Given the description of an element on the screen output the (x, y) to click on. 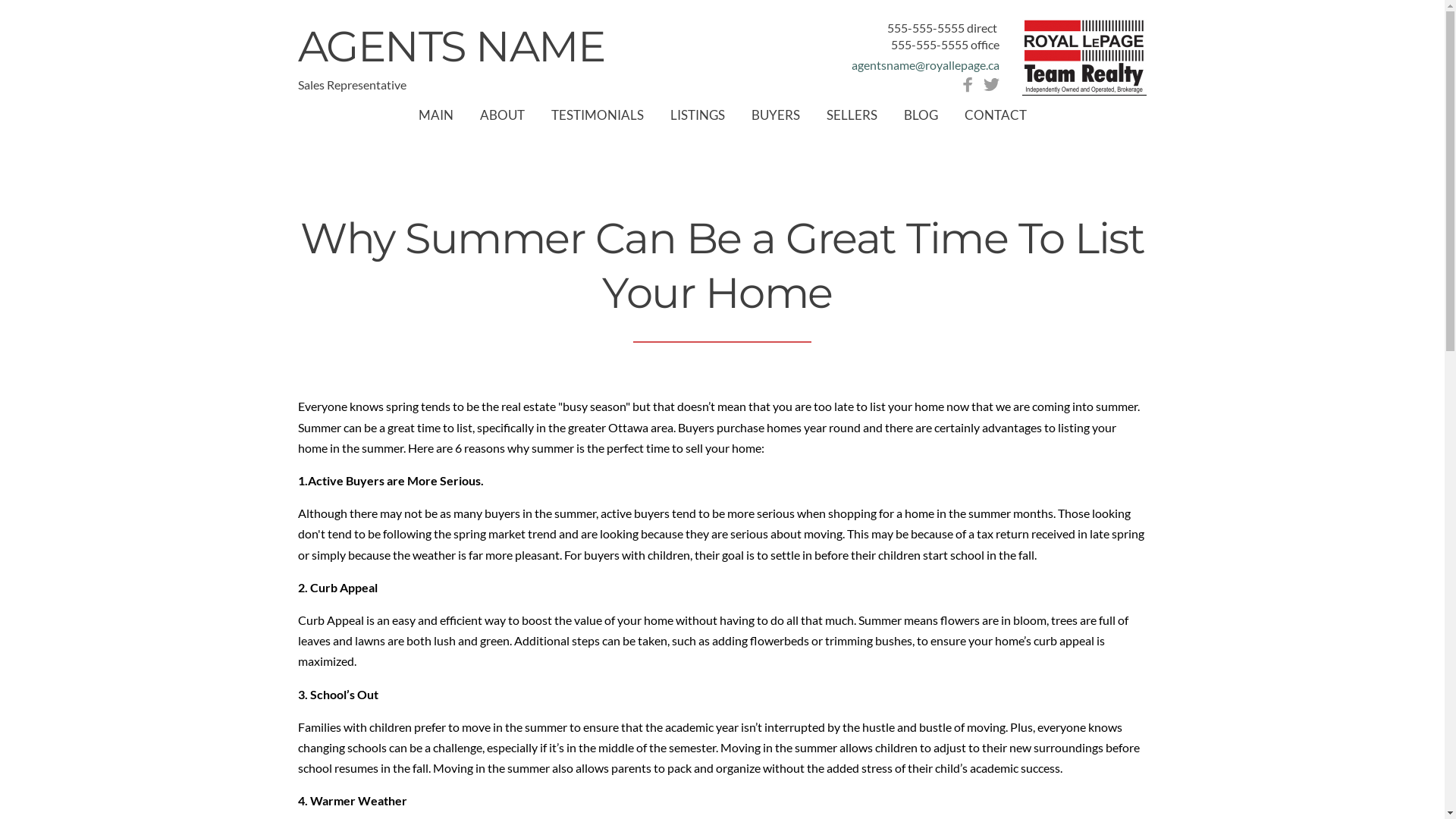
  Element type: text (998, 27)
LISTINGS Element type: text (697, 114)
BLOG Element type: text (920, 114)
TESTIMONIALS Element type: text (596, 114)
MAIN Element type: text (435, 114)
ABOUT Element type: text (501, 114)
agentsname@royallepage.ca Element type: text (925, 64)
SELLERS Element type: text (851, 114)
CONTACT Element type: text (995, 114)
BUYERS Element type: text (774, 114)
